Given the description of an element on the screen output the (x, y) to click on. 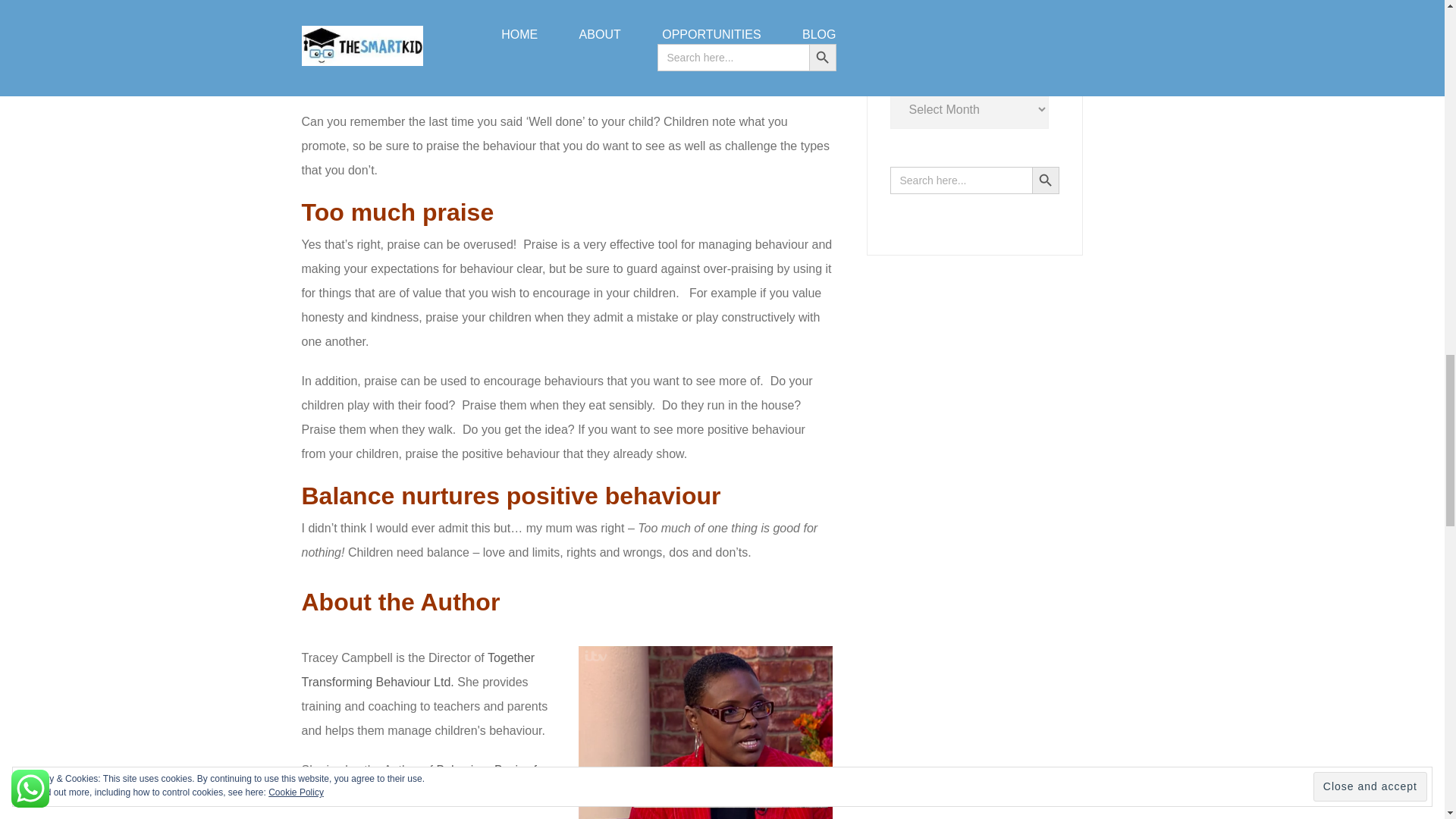
Positive Behaviour requires balance (704, 732)
Together Transforming Behaviour Ltd. (418, 669)
Behaviour Basics for Parents (424, 781)
